Given the description of an element on the screen output the (x, y) to click on. 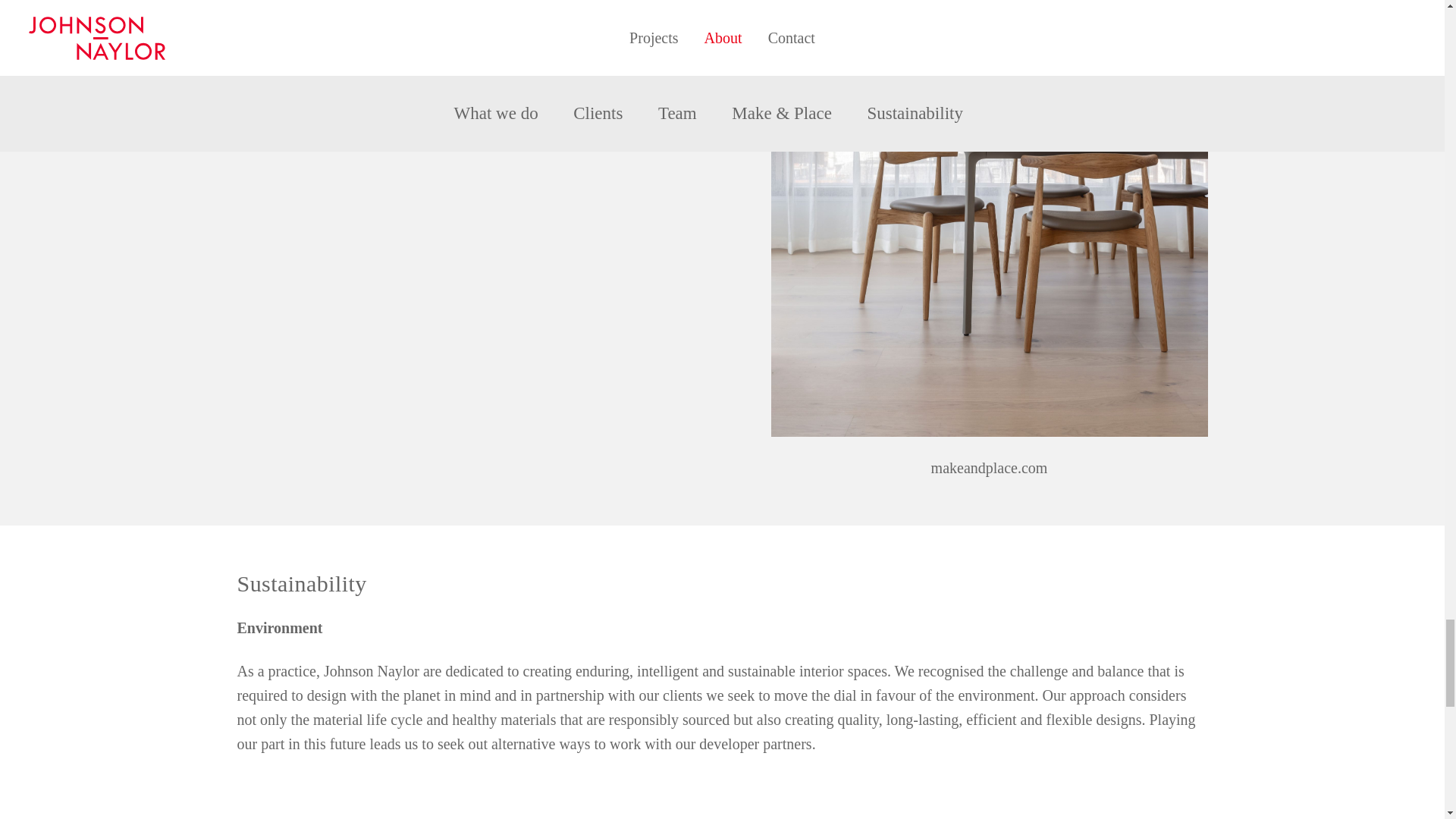
makeandplace.com (989, 467)
